Given the description of an element on the screen output the (x, y) to click on. 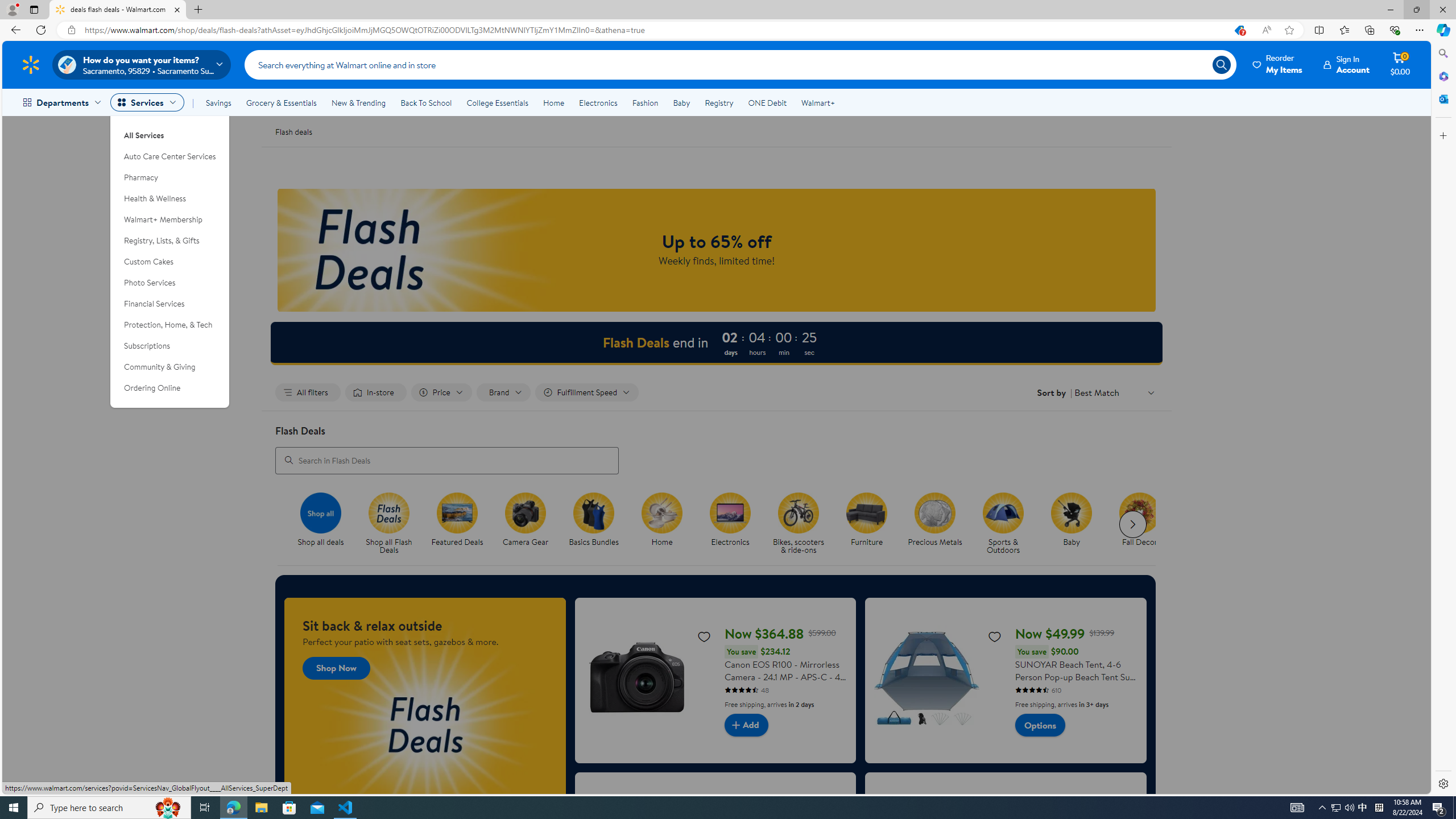
Community & Giving (170, 366)
Photo Services (170, 282)
Electronics (734, 524)
Pharmacy (170, 177)
Custom Cakes (170, 261)
ReorderMy Items (1277, 64)
Camera Gear (525, 512)
Fall Decor (1143, 524)
